Given the description of an element on the screen output the (x, y) to click on. 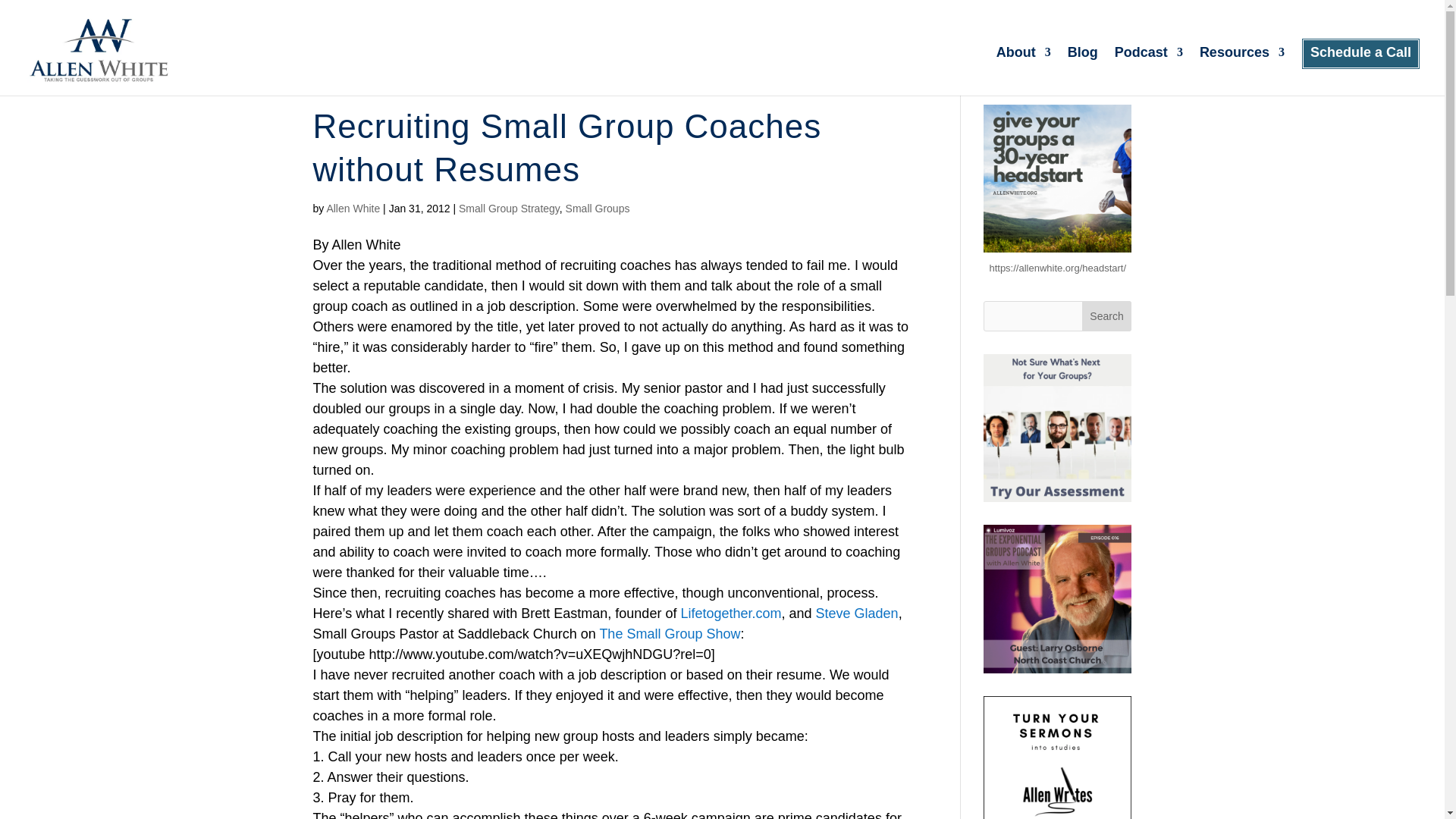
Schedule a Call (1360, 70)
Resources (1241, 70)
Podcast (1148, 70)
About (1023, 70)
Posts by Allen White (353, 208)
